Given the description of an element on the screen output the (x, y) to click on. 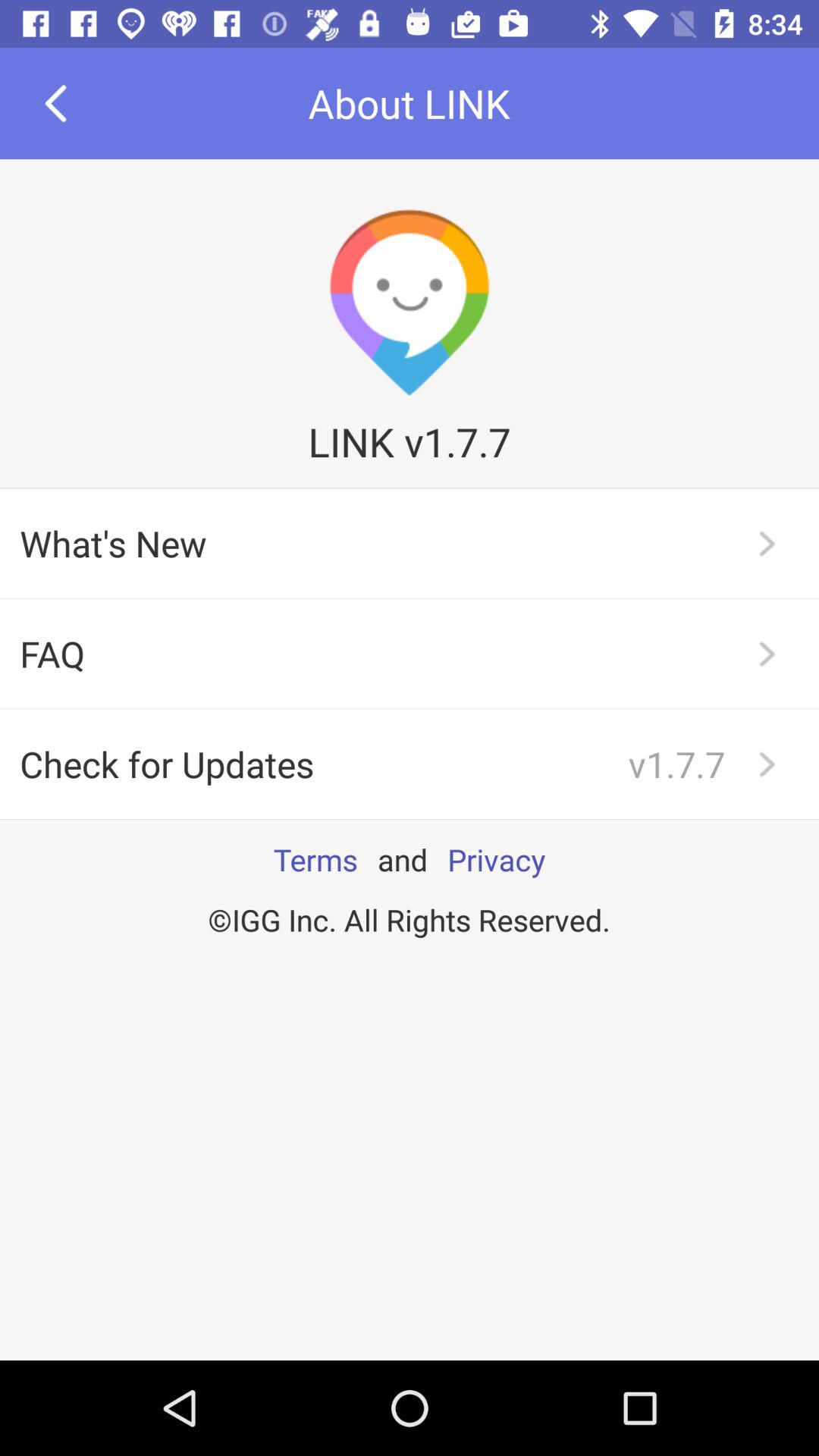
open terms (315, 859)
